Given the description of an element on the screen output the (x, y) to click on. 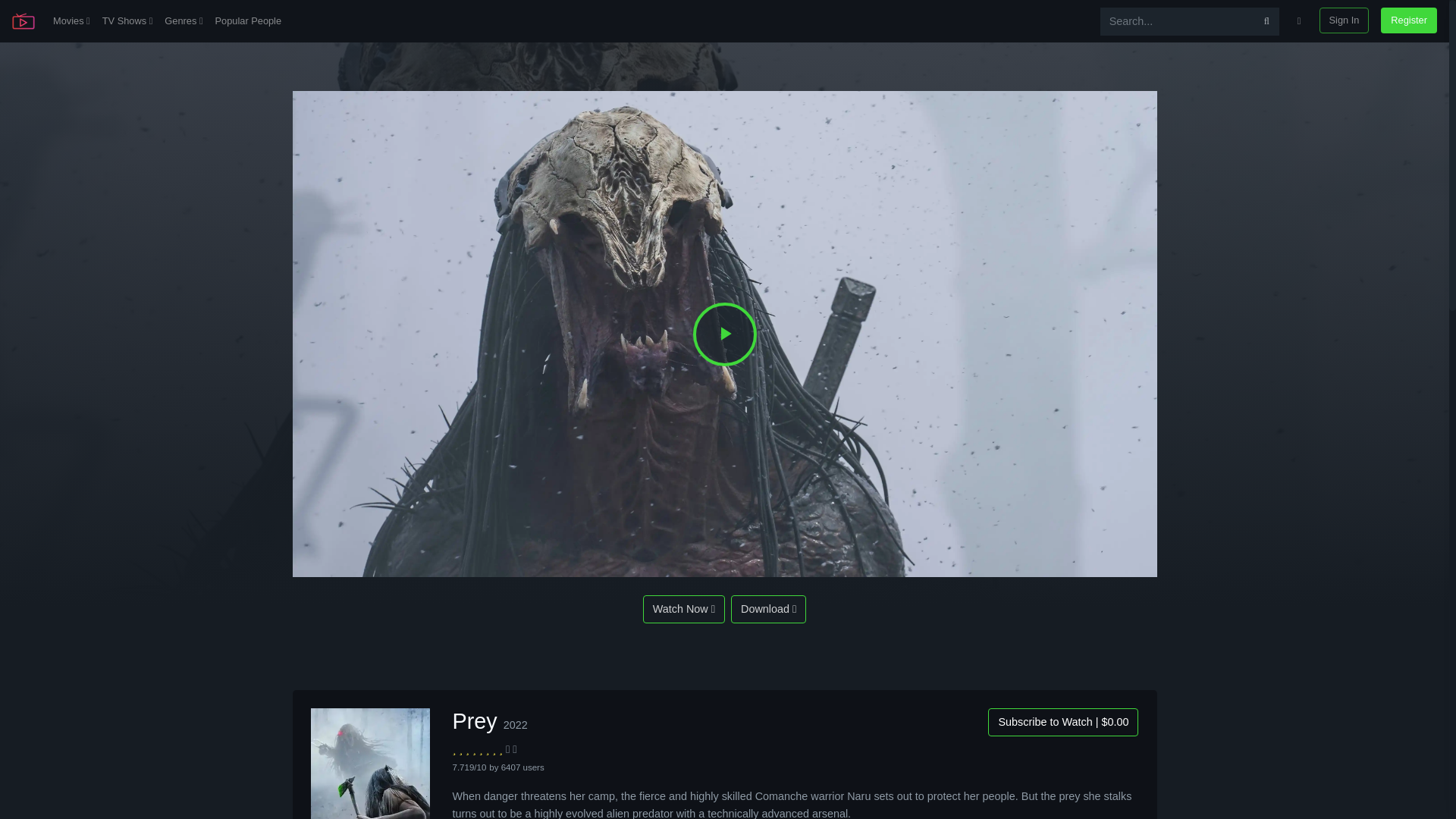
Movies (71, 21)
TV Shows (127, 21)
